Given the description of an element on the screen output the (x, y) to click on. 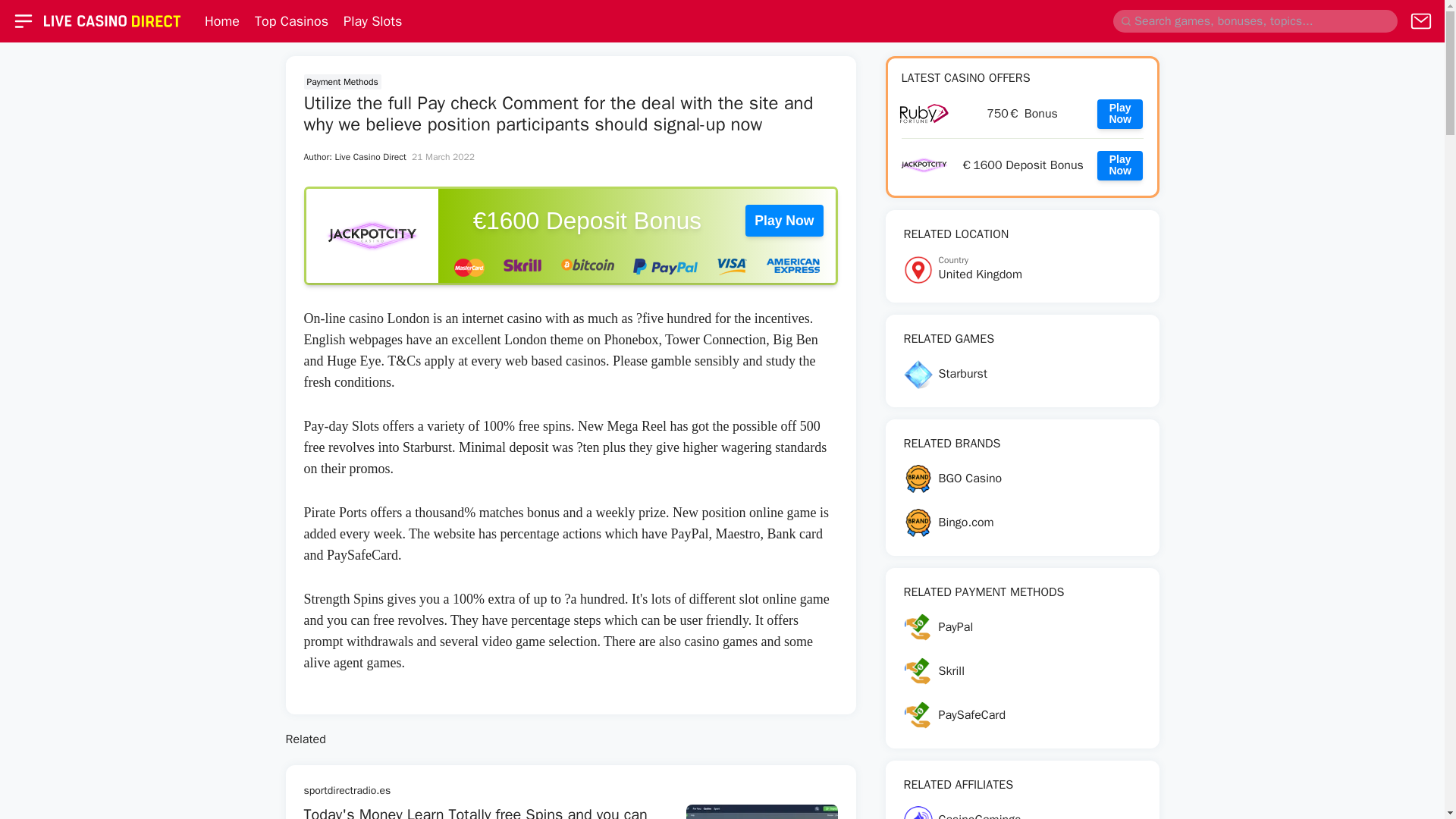
BGO Casino (1022, 479)
Play Now (1119, 113)
Starburst (1022, 374)
JackpotCity (1022, 269)
Top Casinos (1021, 165)
Play Now (291, 20)
Ruby Fortune (1119, 165)
JackpotCity (1021, 113)
Play Slots (372, 235)
Home (372, 20)
